Given the description of an element on the screen output the (x, y) to click on. 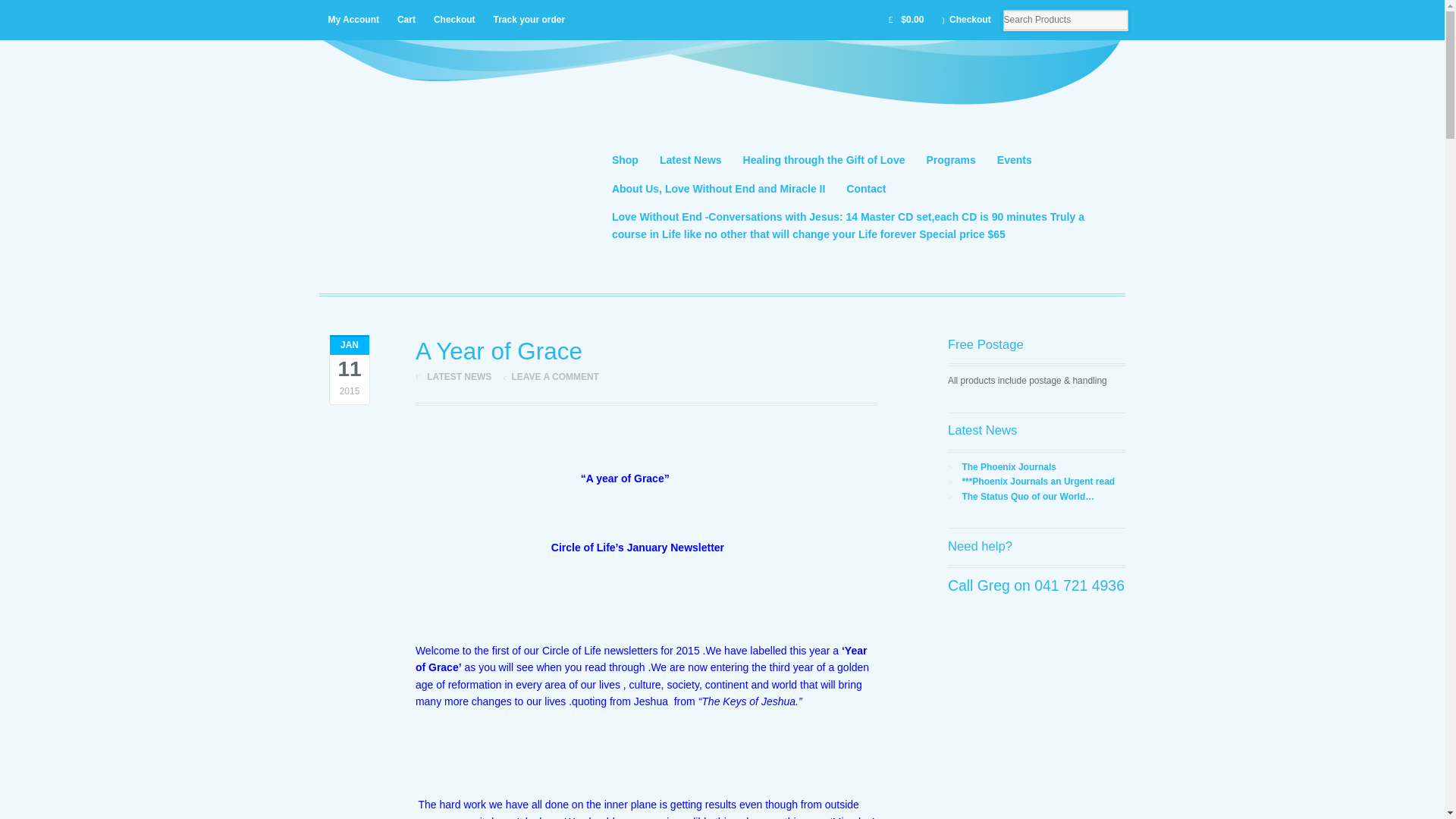
Checkout (454, 20)
Search (62, 10)
The Phoenix Journals (1008, 466)
Checkout (965, 20)
Programs (951, 160)
LEAVE A COMMENT (555, 376)
Track your order (528, 20)
0 items in your shopping cart (906, 20)
My Account (353, 20)
Cart (406, 20)
About Us, Love Without End and Miracle II (718, 188)
Latest News (690, 160)
Events (1014, 160)
Contact (865, 188)
Shop (625, 160)
